Given the description of an element on the screen output the (x, y) to click on. 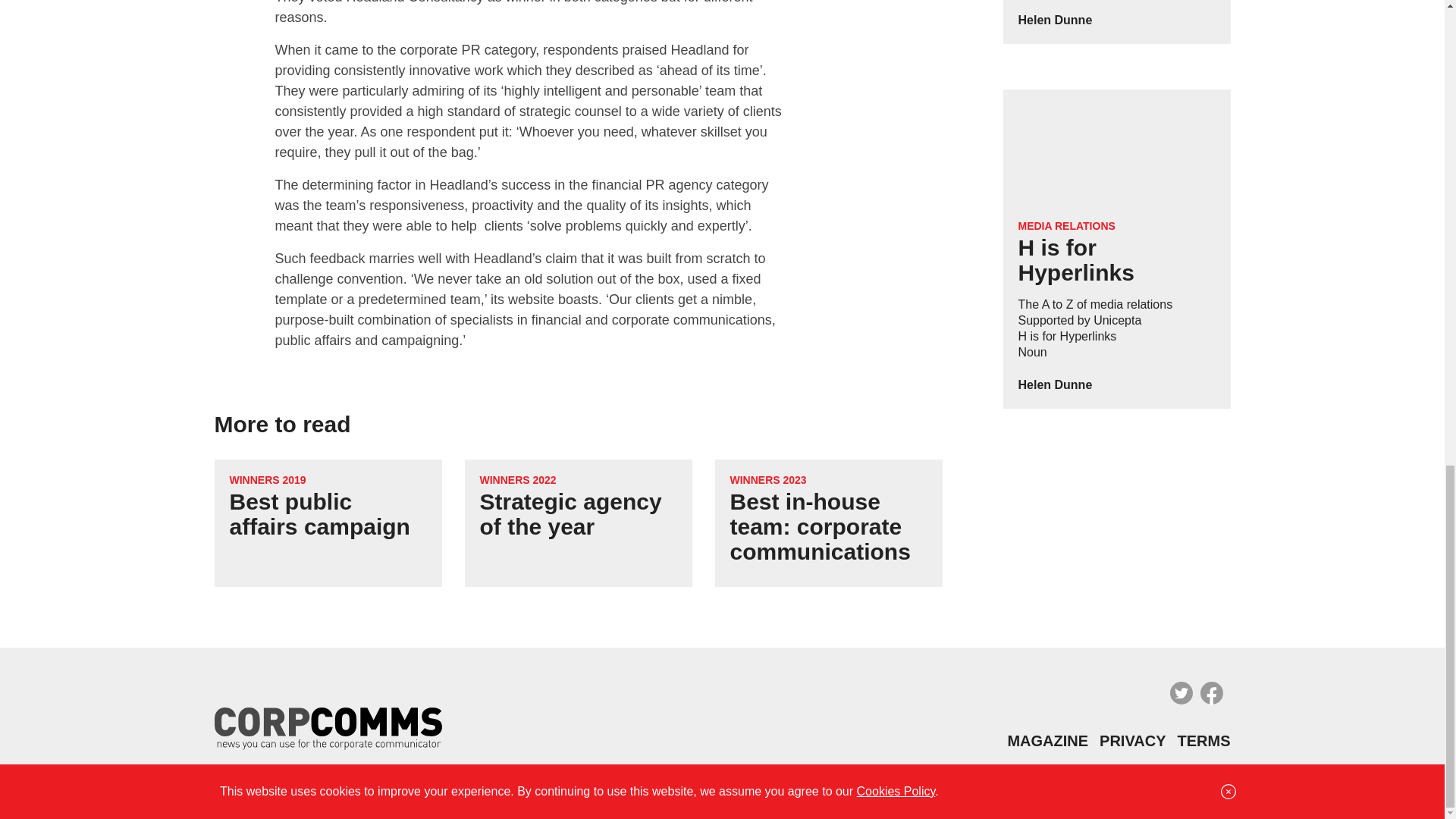
Best public affairs campaign (318, 513)
WINNERS 2022 (517, 479)
WINNERS 2023 (767, 479)
Strategic agency of the year (570, 513)
Best in-house team: corporate communications (819, 526)
WINNERS 2019 (266, 479)
